Given the description of an element on the screen output the (x, y) to click on. 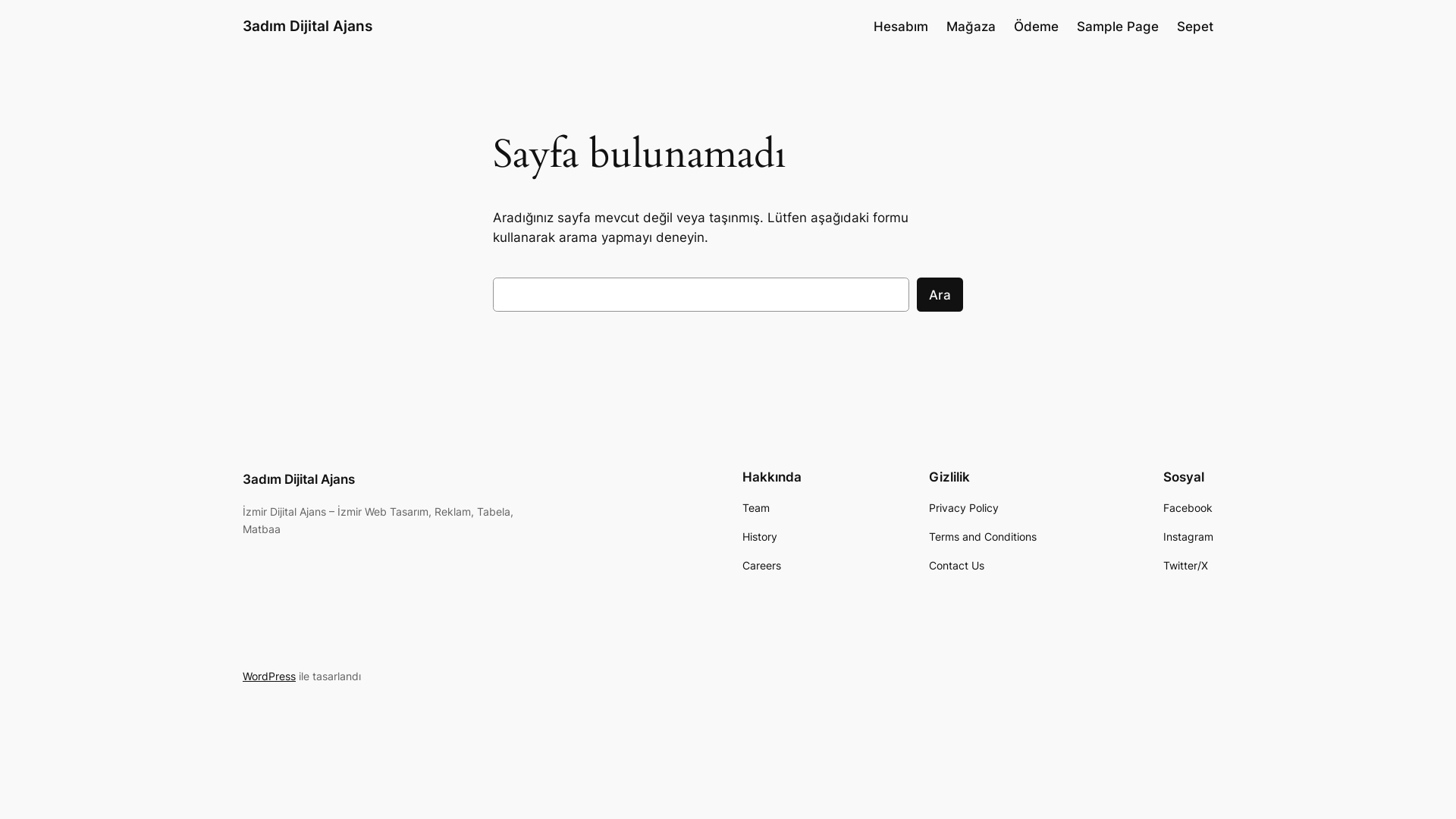
Facebook Element type: text (1187, 507)
Contact Us Element type: text (956, 565)
Twitter/X Element type: text (1185, 565)
Instagram Element type: text (1188, 536)
Careers Element type: text (761, 565)
Team Element type: text (755, 507)
Privacy Policy Element type: text (963, 507)
WordPress Element type: text (268, 675)
Ara Element type: text (939, 294)
History Element type: text (759, 536)
Sepet Element type: text (1194, 26)
Sample Page Element type: text (1117, 26)
Terms and Conditions Element type: text (982, 536)
